Given the description of an element on the screen output the (x, y) to click on. 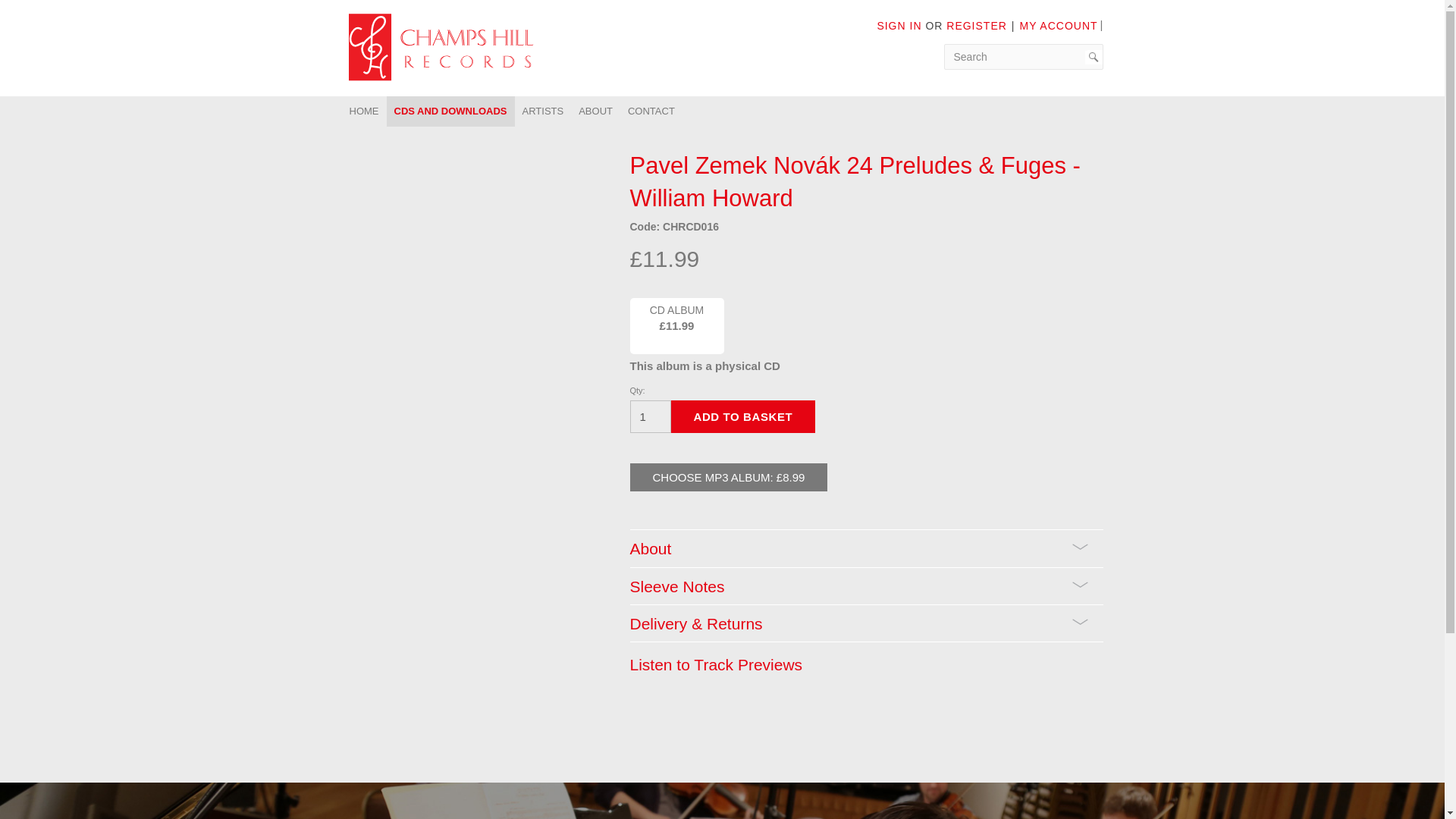
Sleeve Notes (865, 585)
Add To Basket (742, 416)
Add To Basket (742, 416)
Add To Basket (742, 416)
CONTACT (651, 111)
CDS AND DOWNLOADS (451, 111)
About (865, 547)
CD Album (675, 325)
MY ACCOUNT (1058, 25)
ARTISTS (543, 111)
REGISTER (976, 25)
SIGN IN (898, 25)
1 (648, 416)
ABOUT (595, 111)
HOME (362, 111)
